Given the description of an element on the screen output the (x, y) to click on. 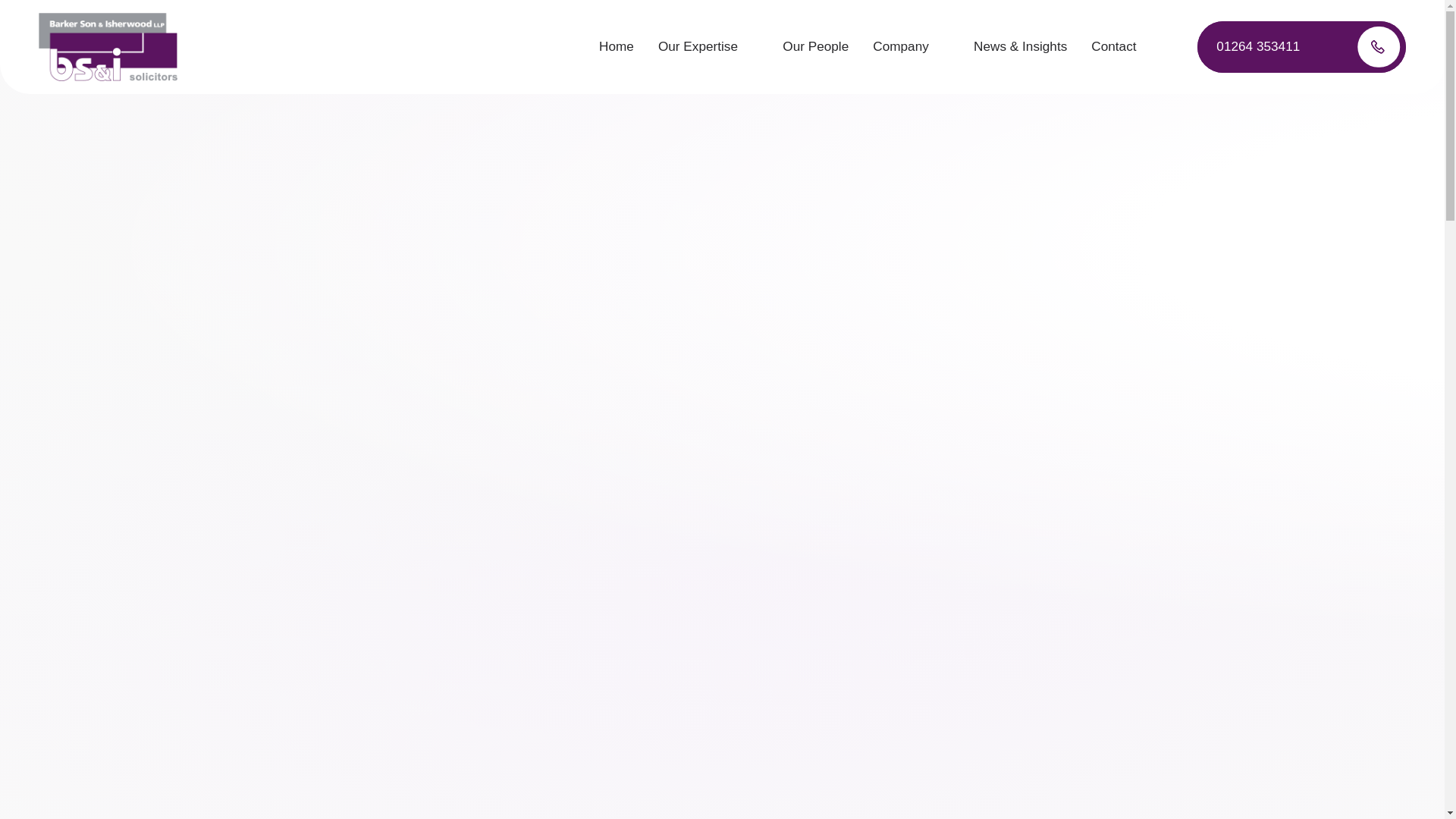
Our Expertise (708, 47)
Home (615, 47)
